Given the description of an element on the screen output the (x, y) to click on. 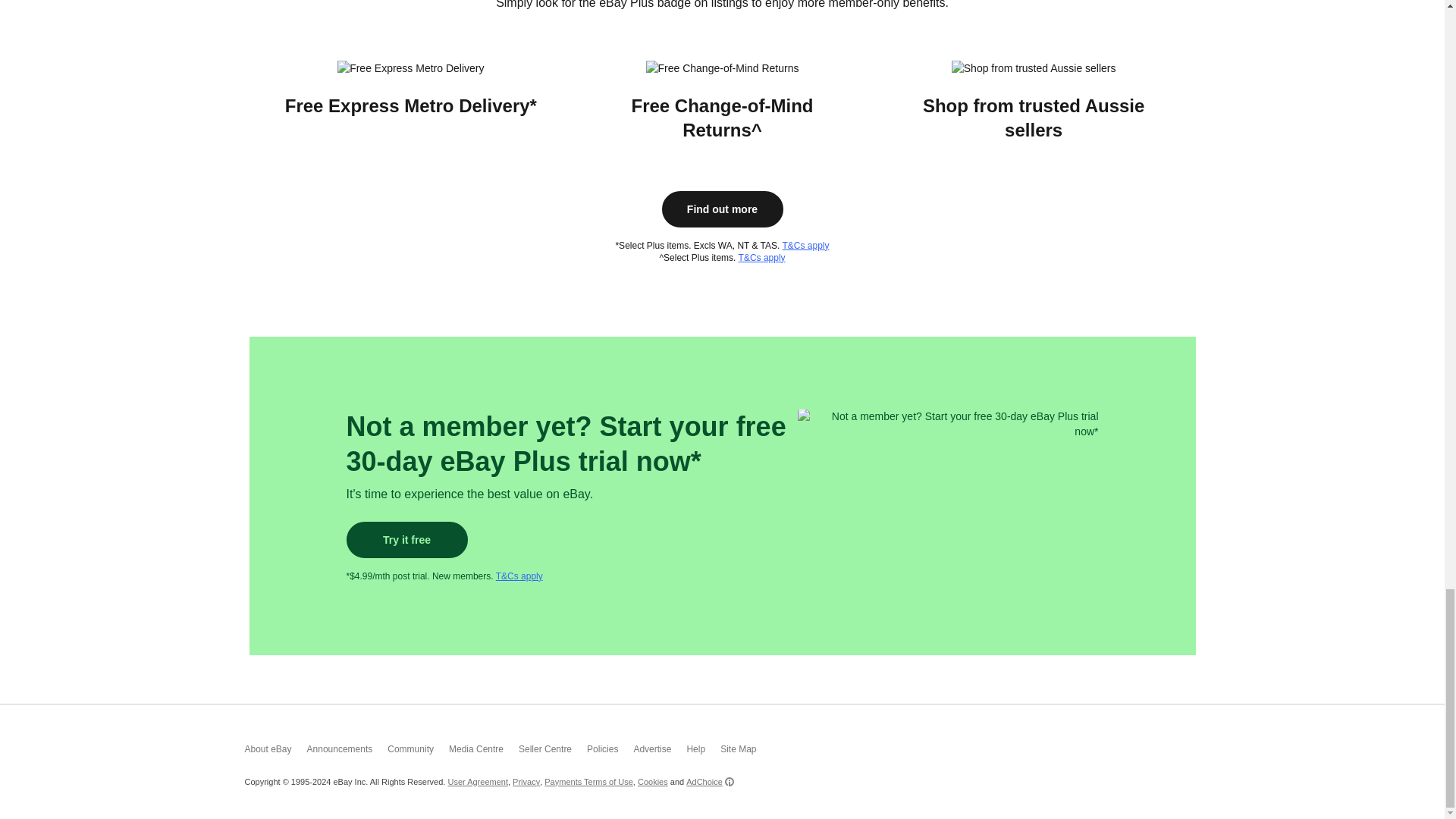
Try it free (406, 539)
Find out more (722, 208)
Find out more (722, 208)
